Given the description of an element on the screen output the (x, y) to click on. 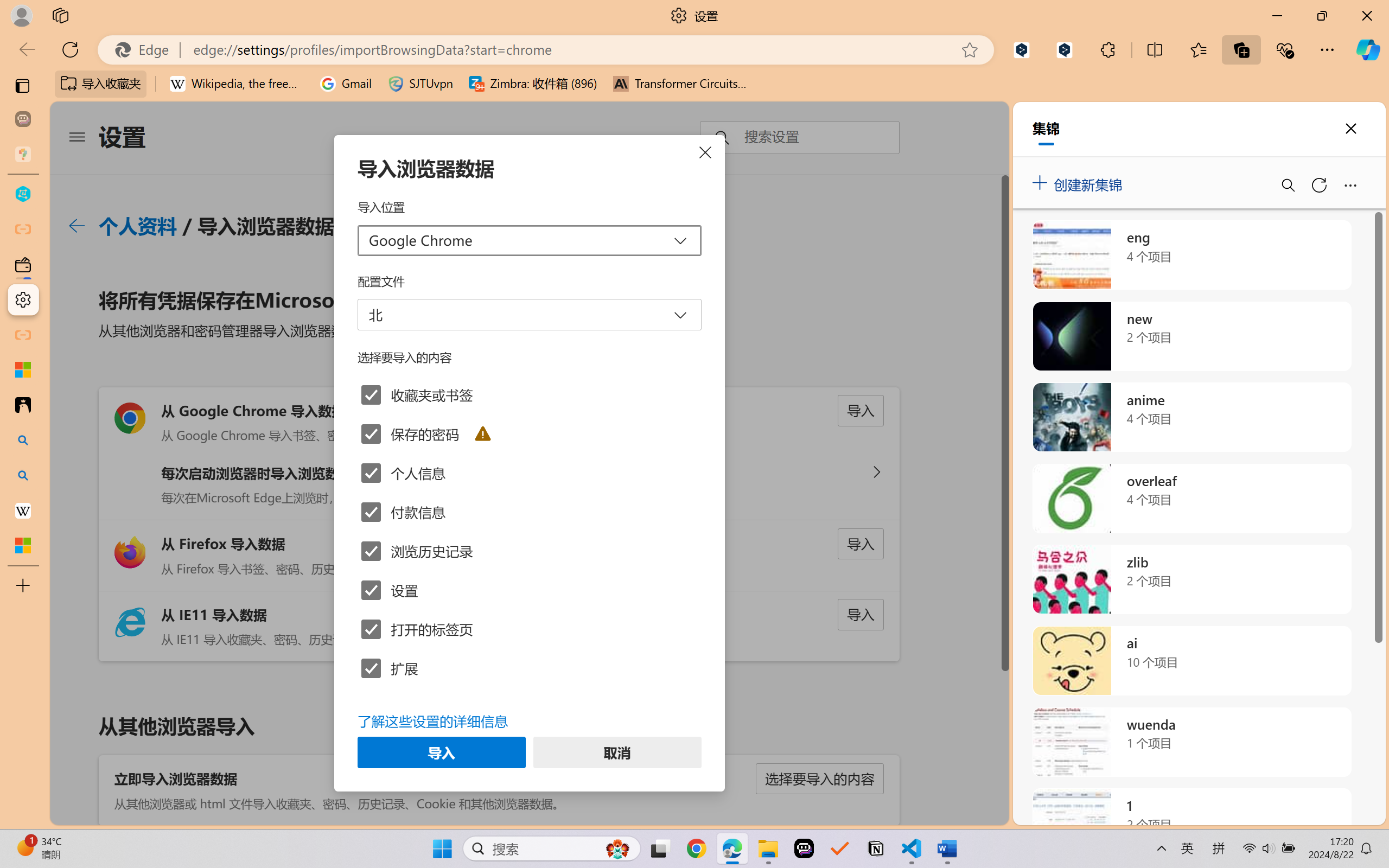
Class: c01179 (76, 226)
Gmail (345, 83)
